Given the description of an element on the screen output the (x, y) to click on. 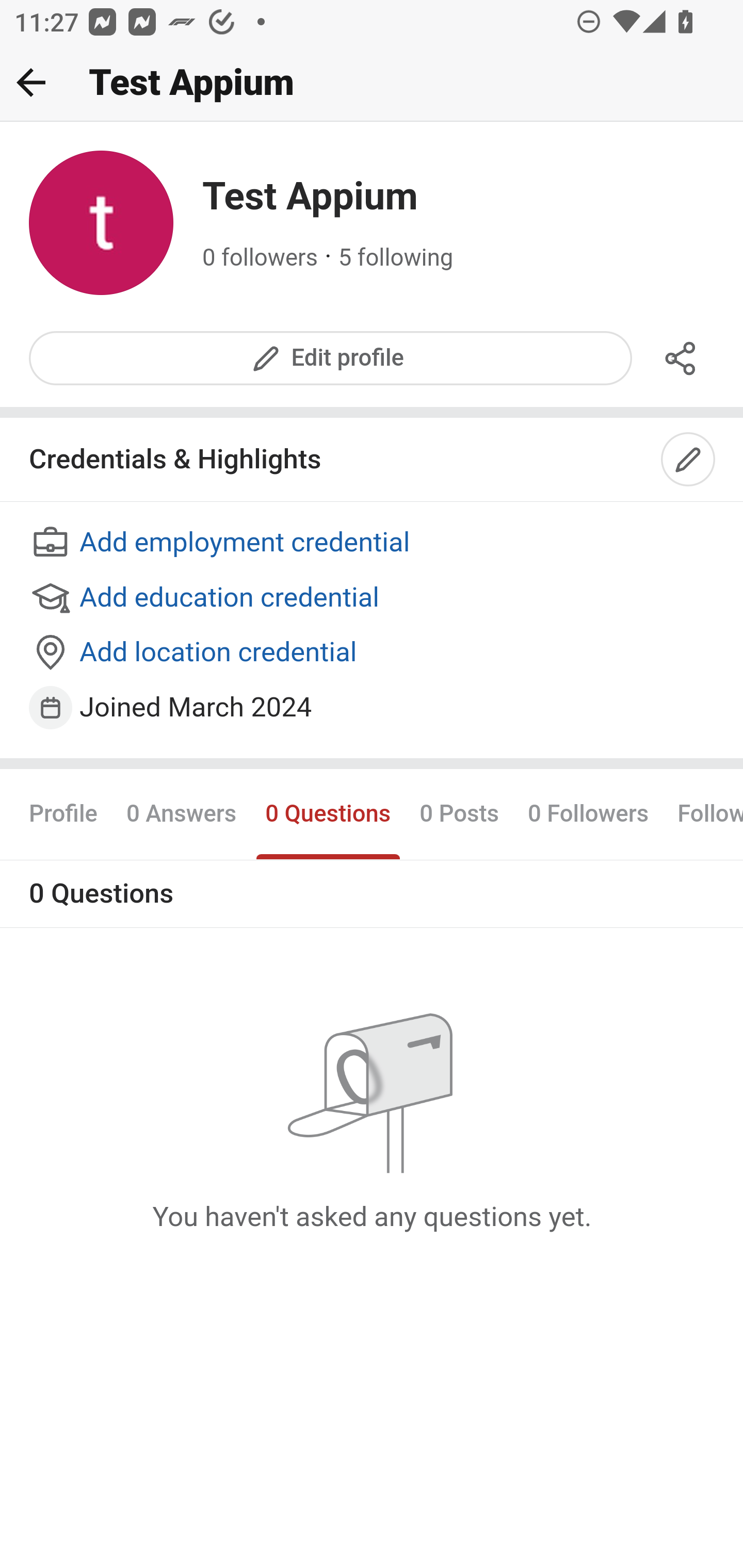
Back (30, 82)
0 followers (260, 257)
5 following (395, 257)
Share (681, 358)
Edit profile (330, 357)
Edit credentials (688, 459)
Add employment credential (372, 543)
Add education credential (372, 598)
Add location credential (372, 653)
Profile (63, 813)
0 Answers (180, 813)
0 Questions (327, 813)
0 Posts (459, 813)
0 Followers (588, 813)
